Given the description of an element on the screen output the (x, y) to click on. 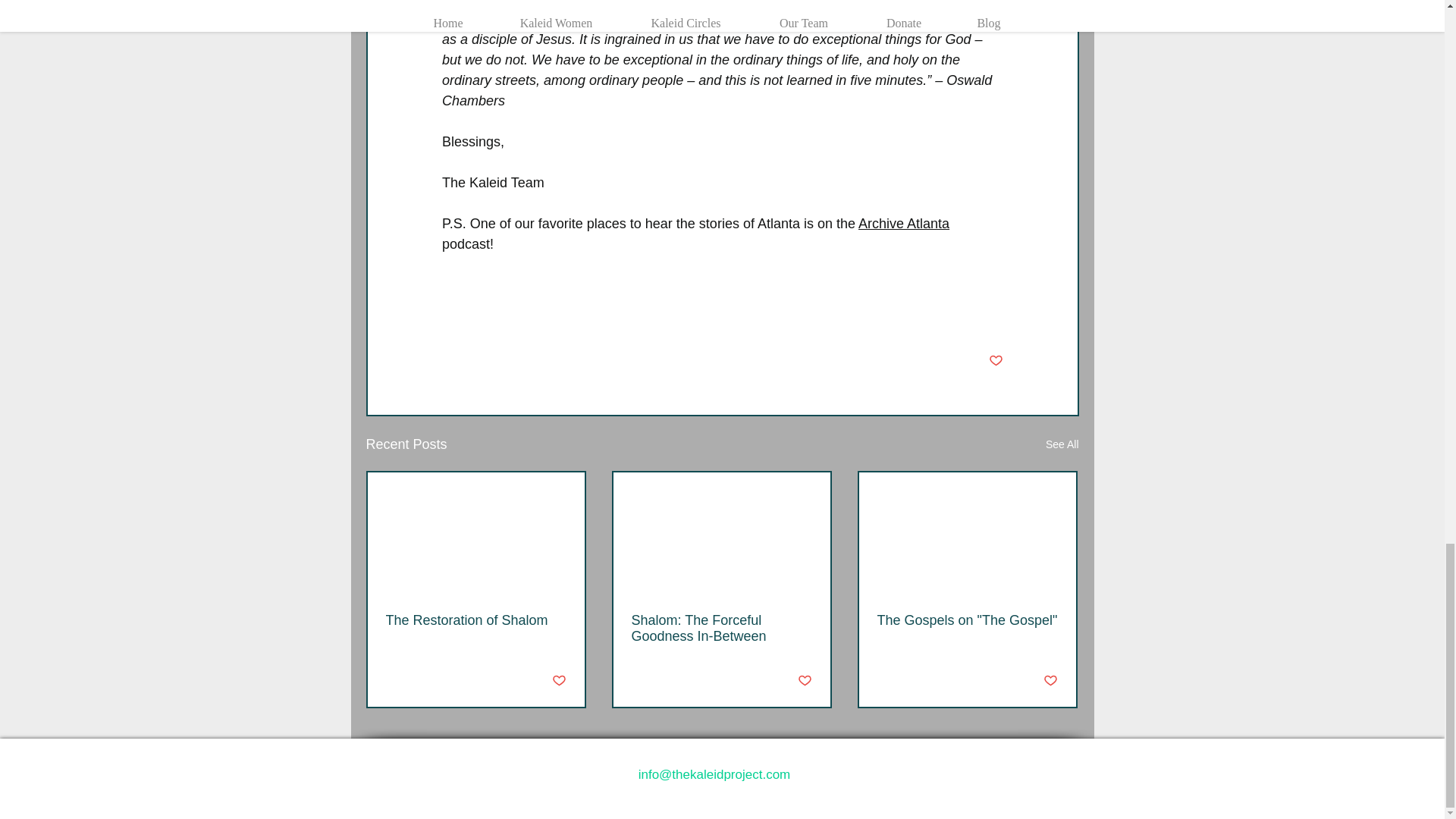
Post not marked as liked (1050, 681)
Post not marked as liked (804, 681)
0 (435, 681)
The Restoration of Shalom (475, 620)
0 (681, 681)
Shalom: The Forceful Goodness In-Between (720, 628)
0 (927, 681)
Post not marked as liked (995, 360)
Archive Atlanta (904, 223)
See All (1061, 444)
